Given the description of an element on the screen output the (x, y) to click on. 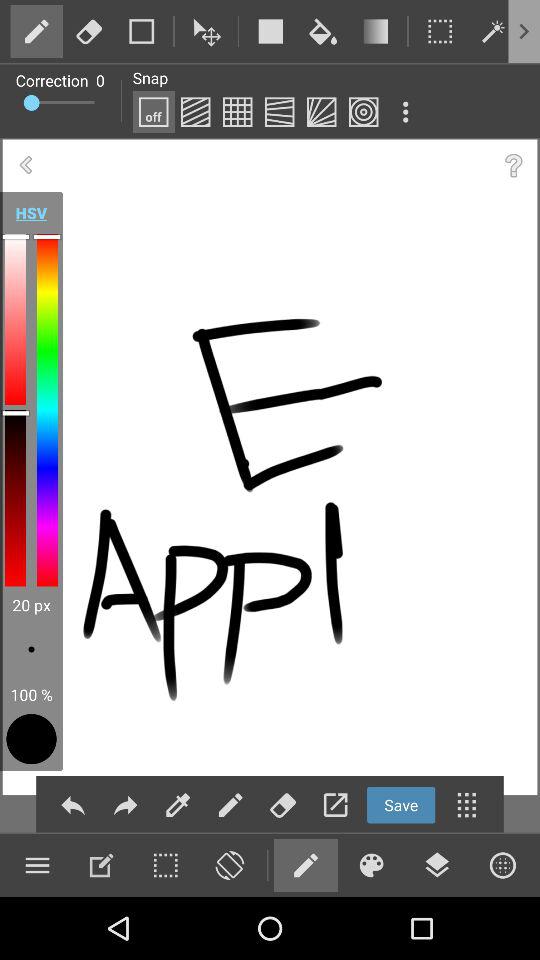
open more options (529, 31)
